Given the description of an element on the screen output the (x, y) to click on. 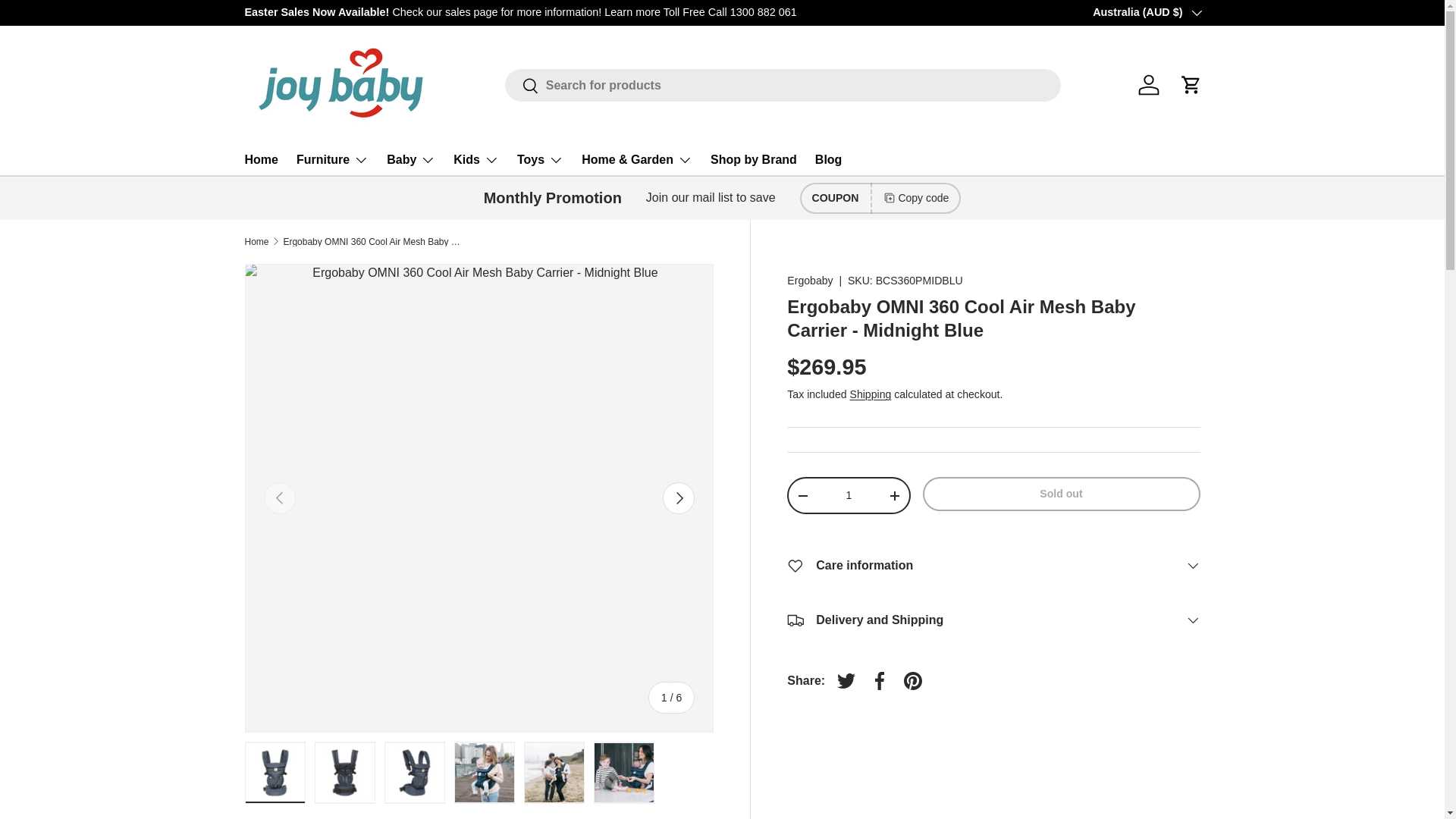
Skip to content (69, 21)
Search (521, 86)
Furniture (332, 159)
1 (847, 495)
Home (261, 159)
Cart (1190, 84)
Log in (1147, 84)
Learn more (1237, 11)
Baby (411, 159)
